Given the description of an element on the screen output the (x, y) to click on. 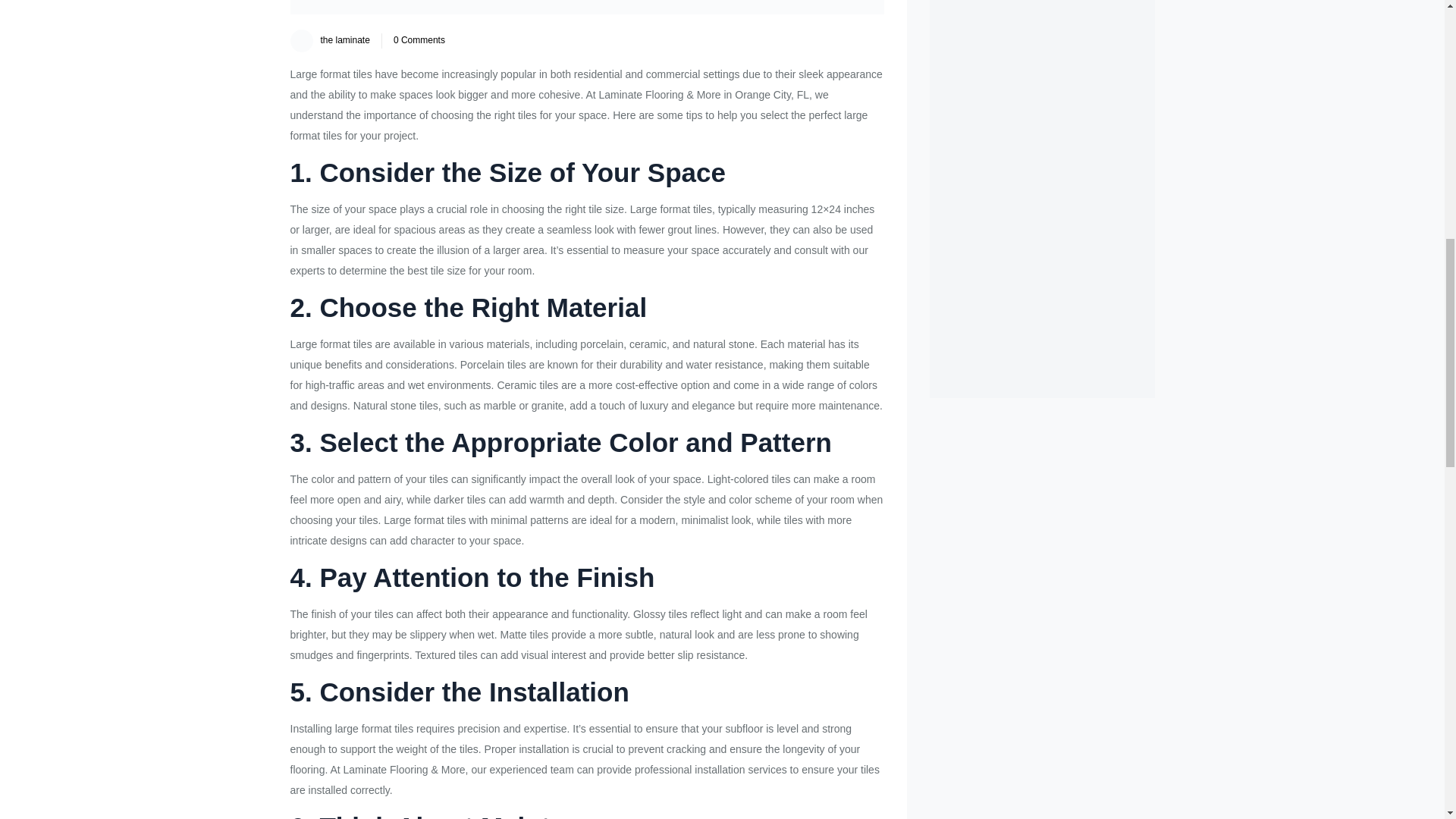
the laminate (344, 40)
0 Comments (419, 40)
